Given the description of an element on the screen output the (x, y) to click on. 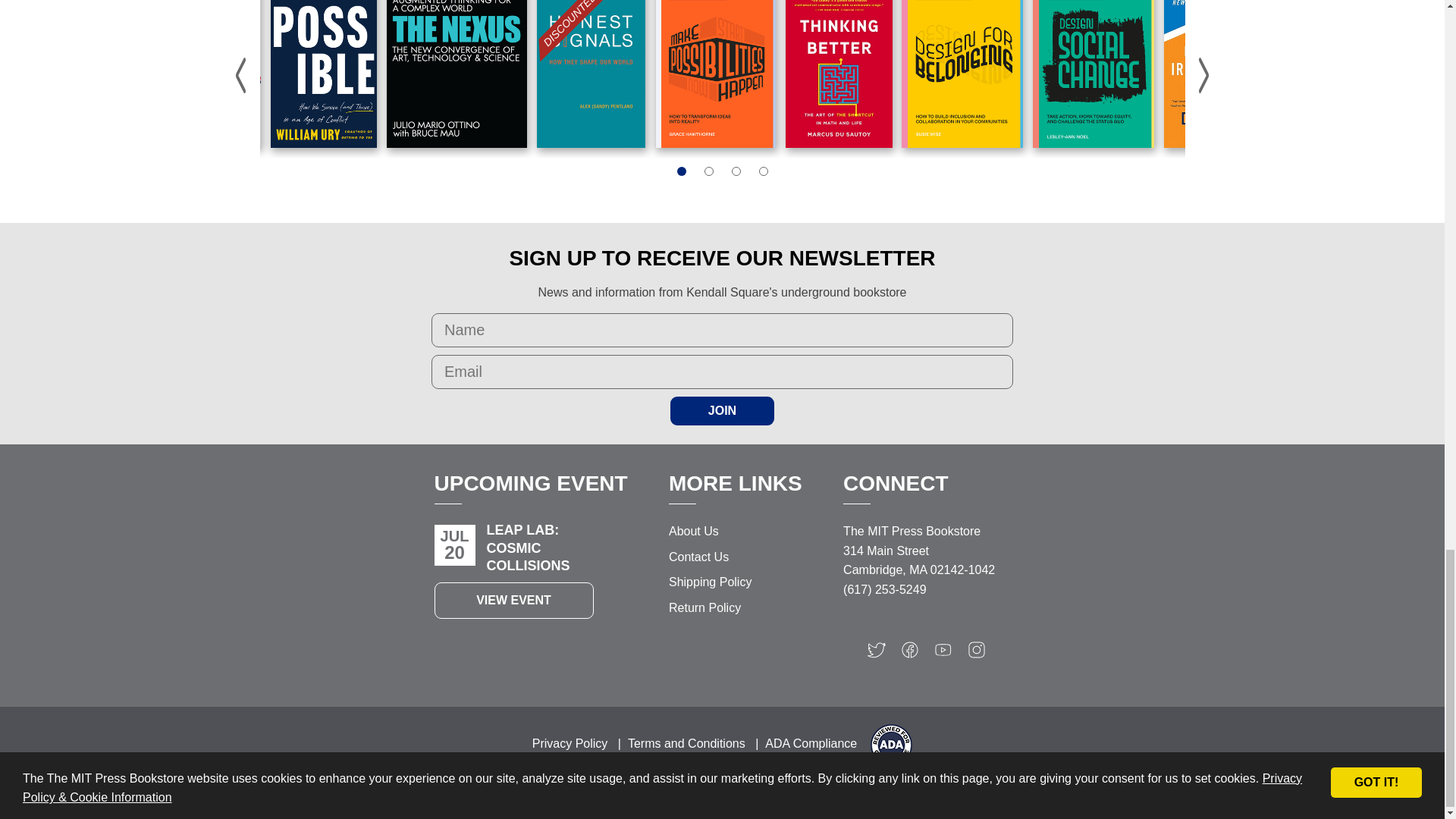
Join (721, 410)
